Given the description of an element on the screen output the (x, y) to click on. 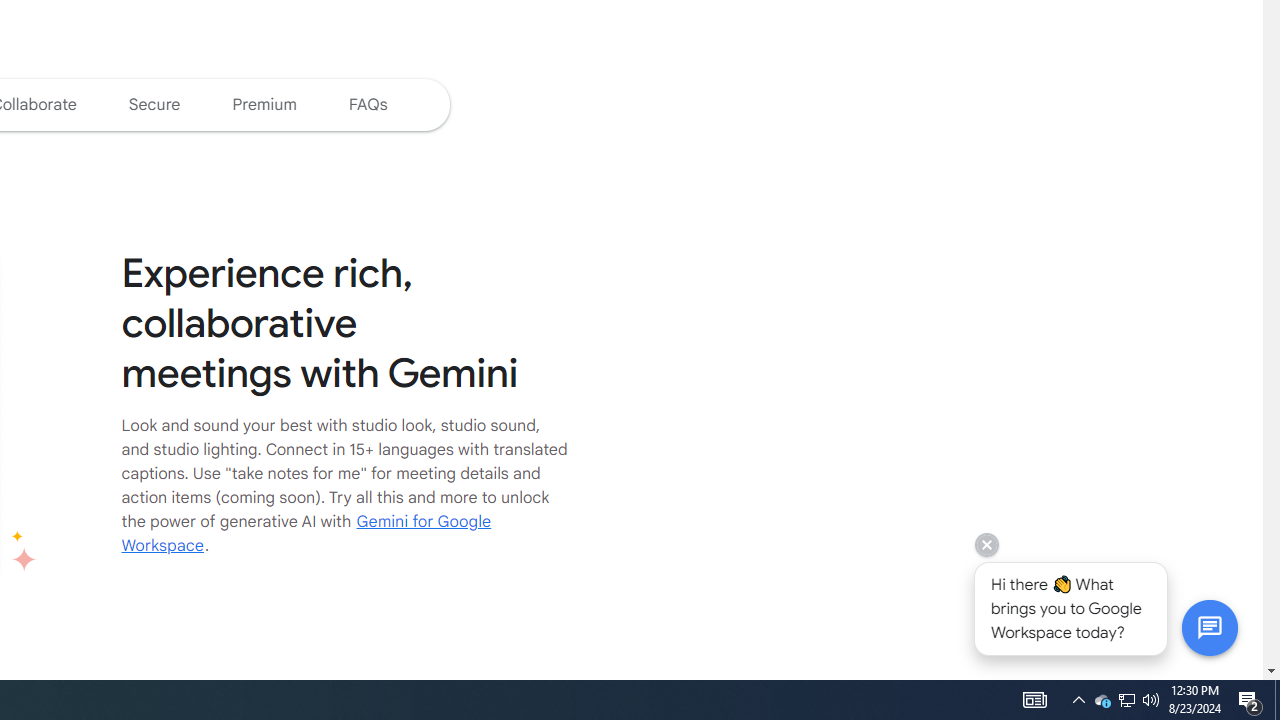
Jump to the Google Meet FAQs (367, 104)
Gemini for Google Workspace (306, 533)
Jump to the secure section of the page (154, 104)
Jump to the premium section of the page (264, 104)
AutomationID: cloud-chatbot-chat-activate-bar-desktop (1209, 627)
